Given the description of an element on the screen output the (x, y) to click on. 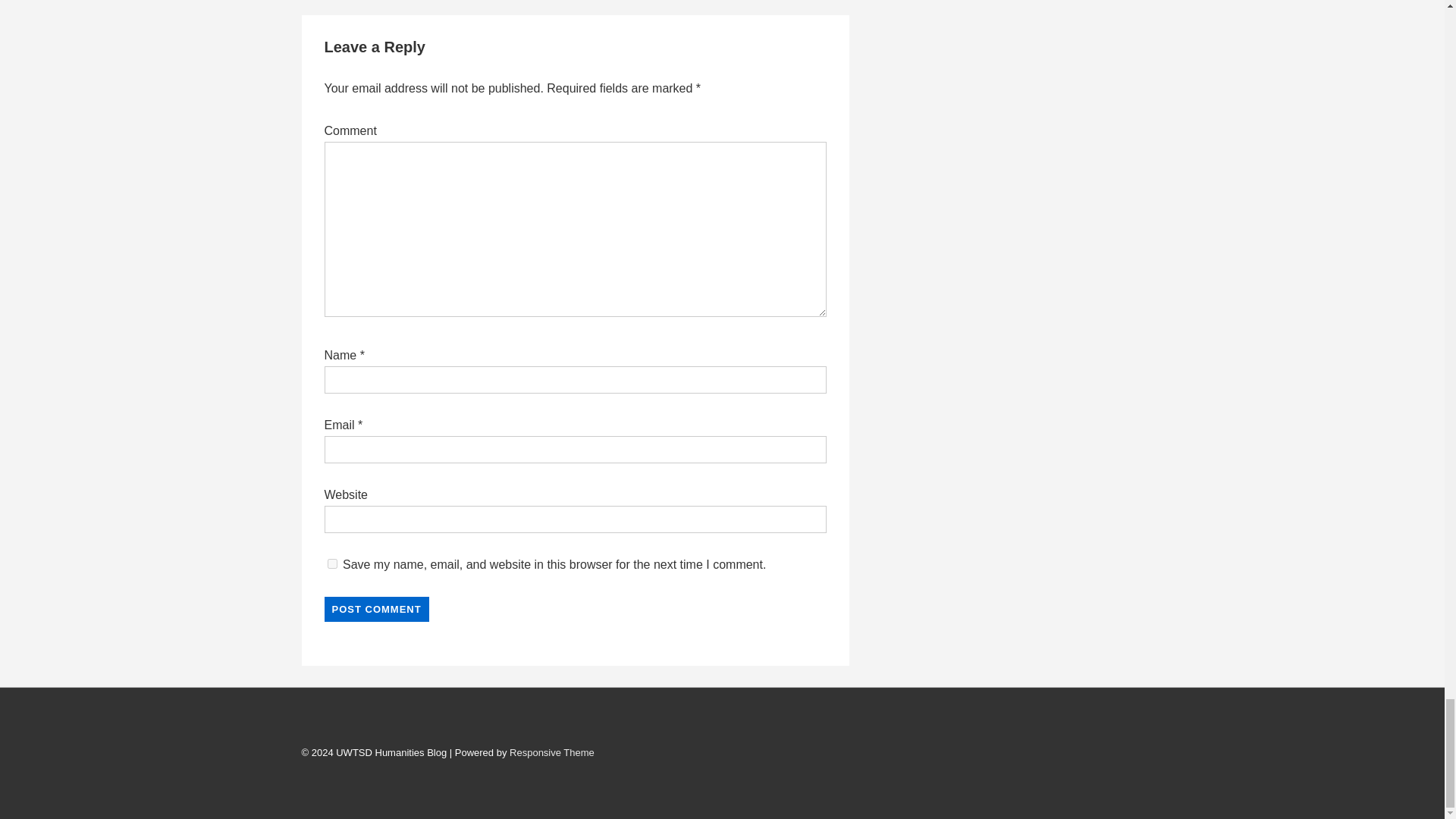
Post Comment (376, 609)
Post Comment (376, 609)
yes (332, 563)
